Given the description of an element on the screen output the (x, y) to click on. 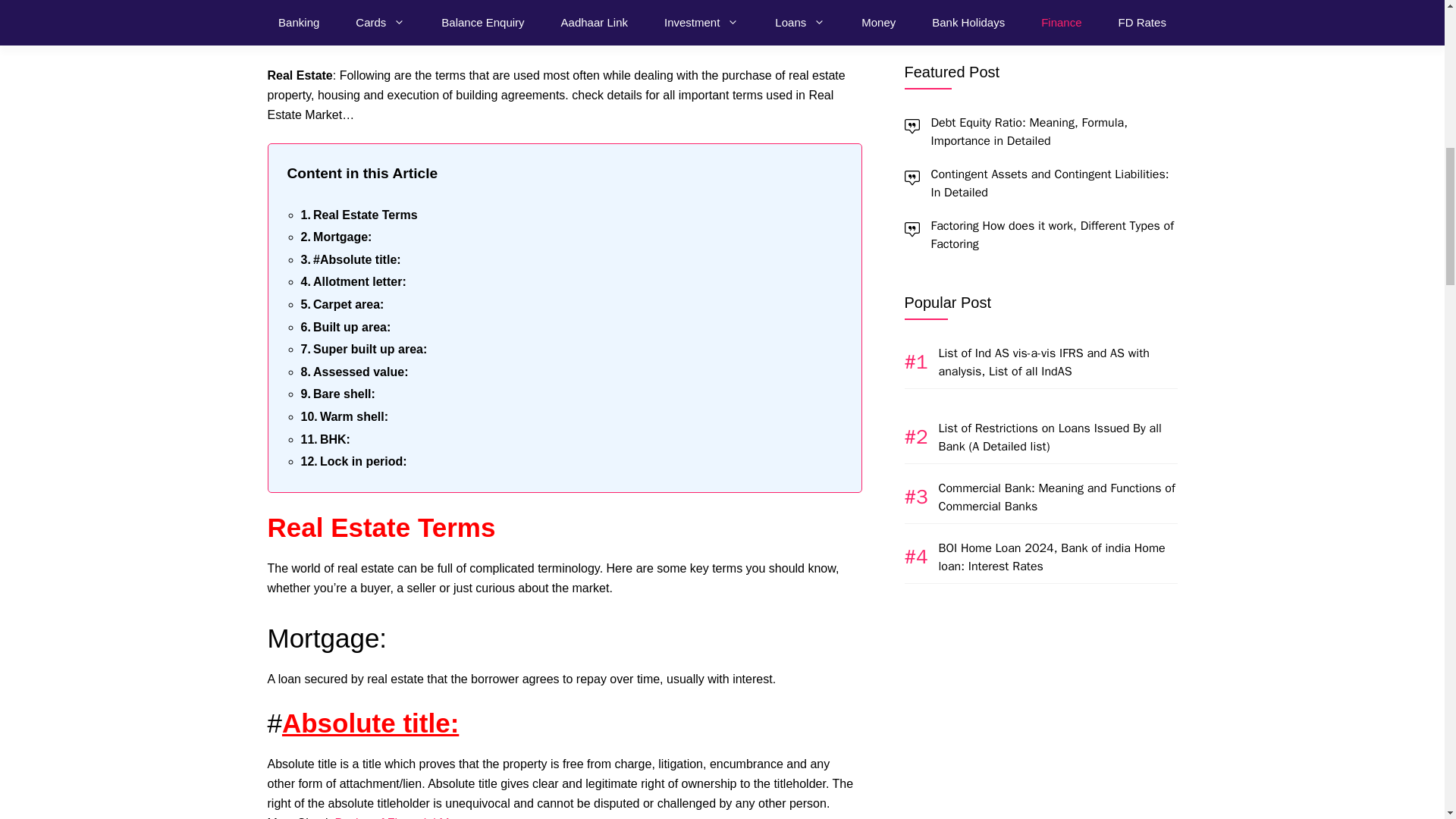
Built up area: (344, 327)
Mortgage: (335, 237)
Mortgage: (335, 237)
Real Estate Terms (357, 215)
Assessed value: (353, 372)
Super built up area: (362, 349)
Allotment letter: (352, 281)
Bare shell: (336, 394)
Carpet area: (341, 304)
Real Estate Terms (357, 215)
